Given the description of an element on the screen output the (x, y) to click on. 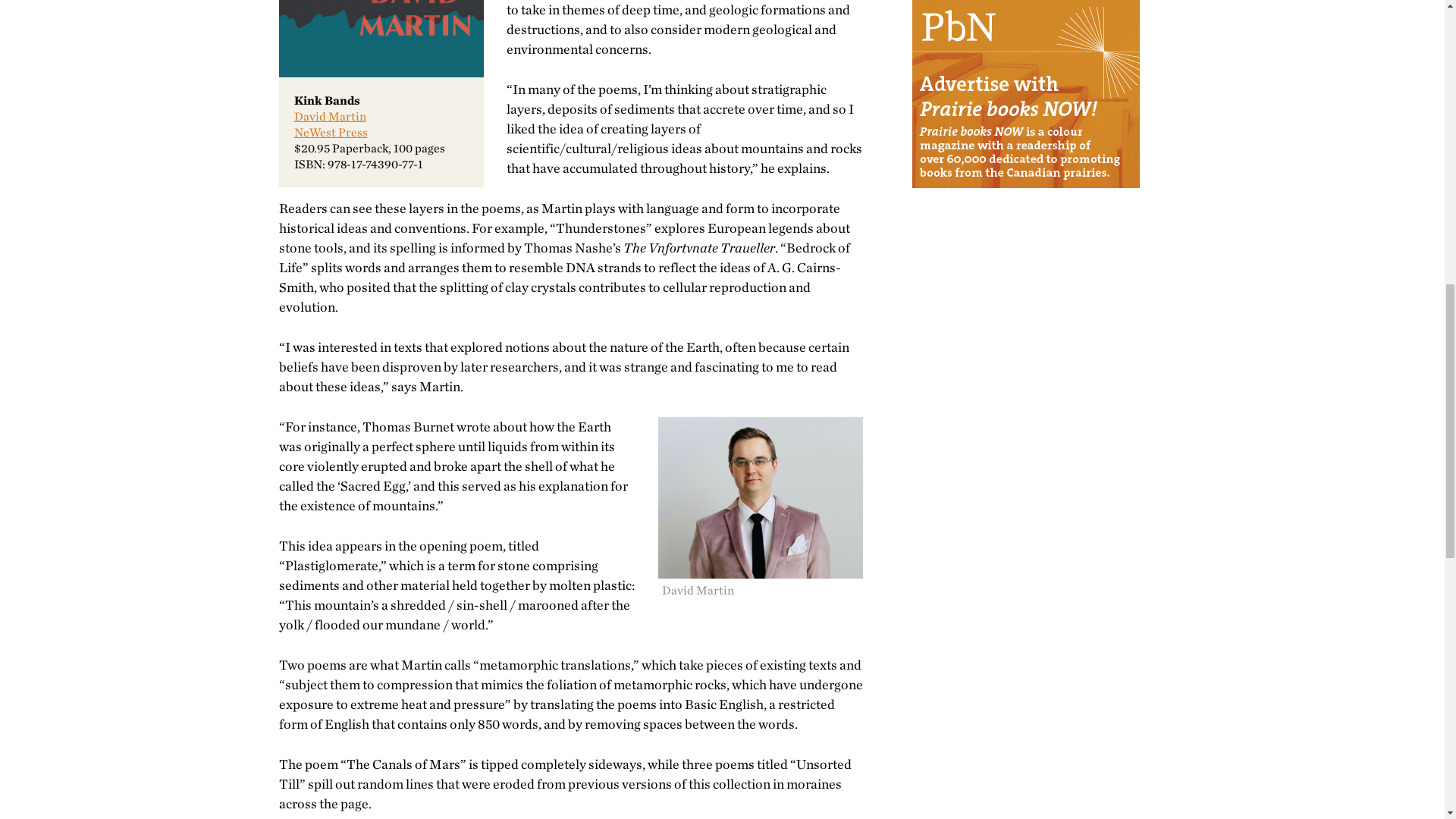
David Martin (330, 115)
NeWest Press (331, 132)
